Given the description of an element on the screen output the (x, y) to click on. 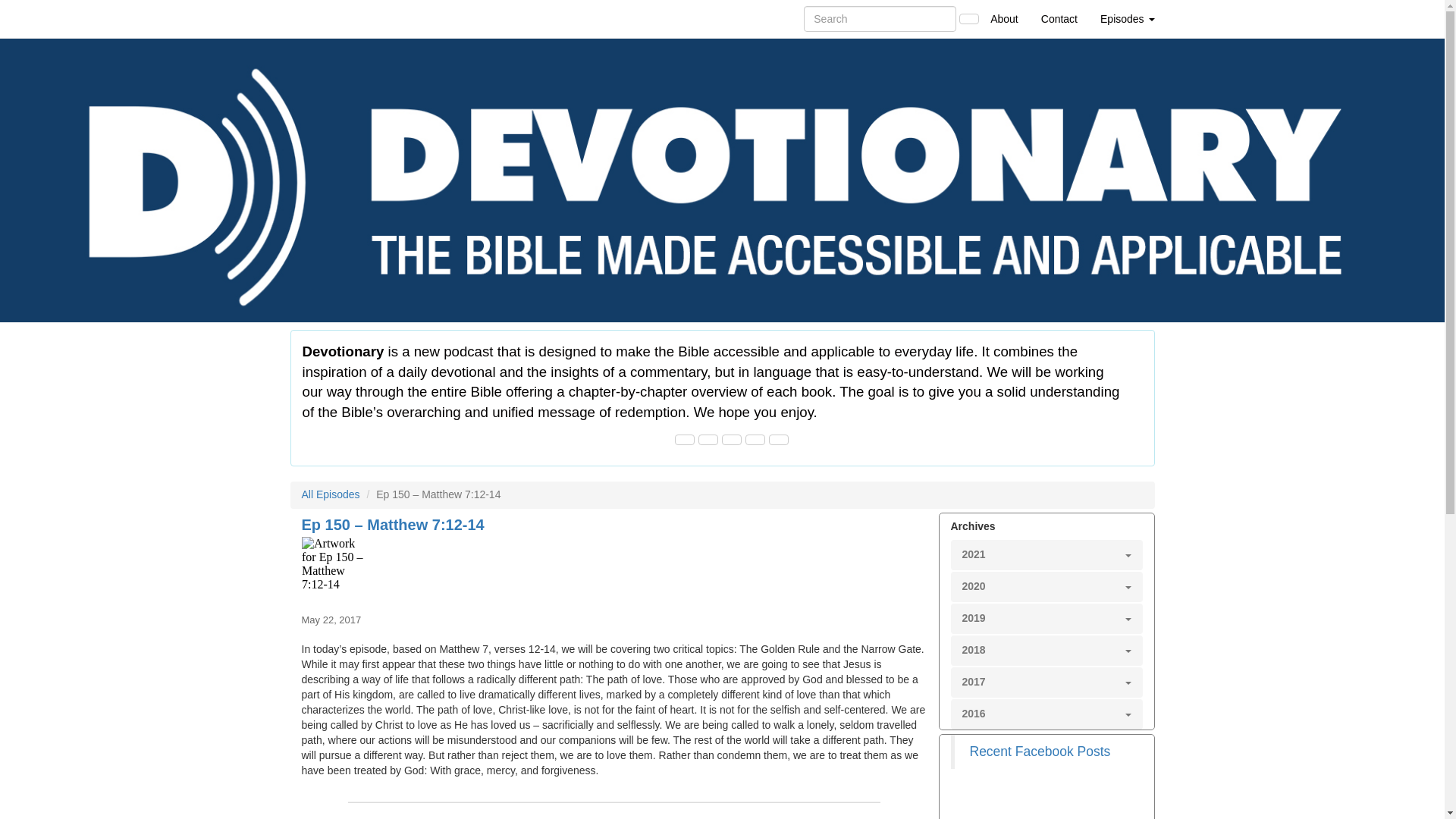
About (1003, 18)
Contact (1059, 18)
Home Page (320, 18)
Episodes (1127, 18)
